Given the description of an element on the screen output the (x, y) to click on. 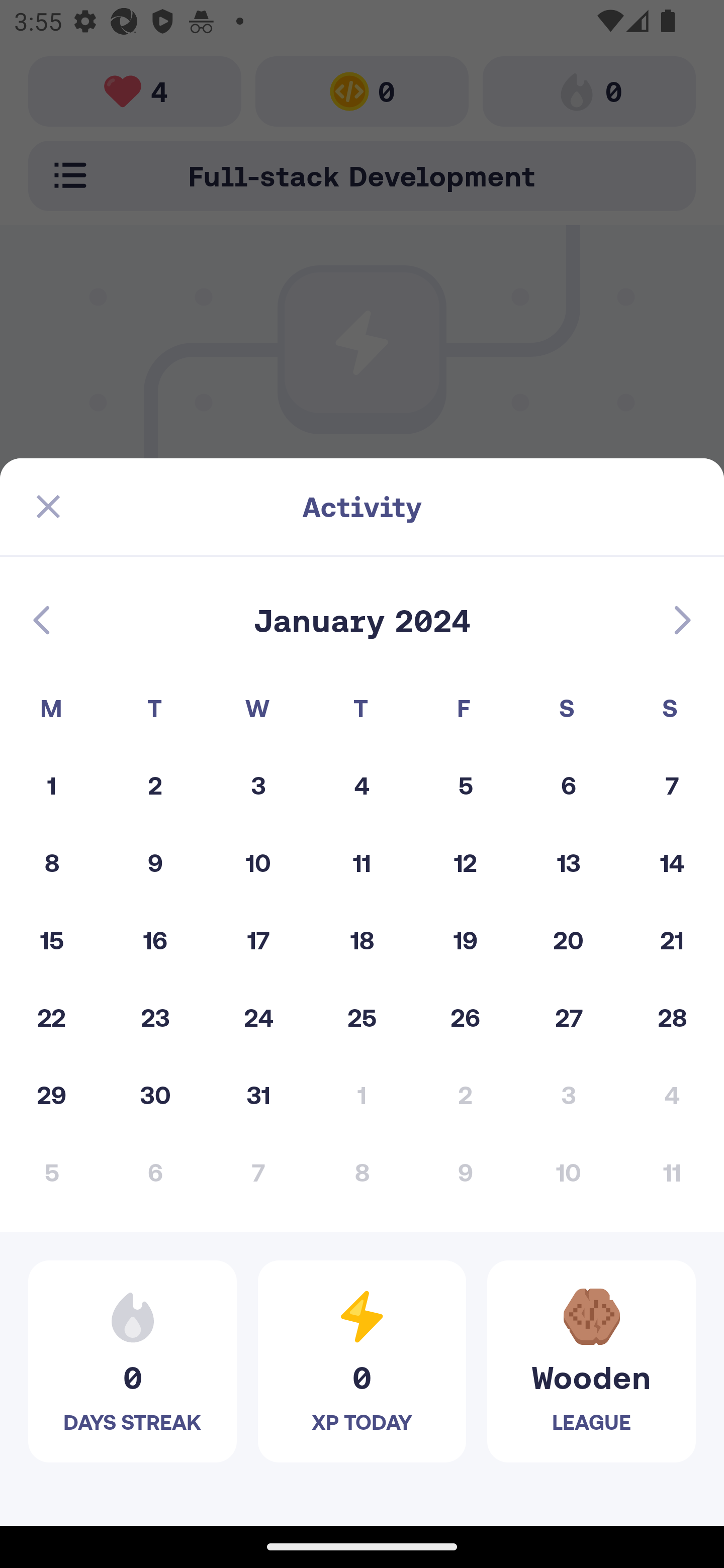
Close (47, 506)
